Given the description of an element on the screen output the (x, y) to click on. 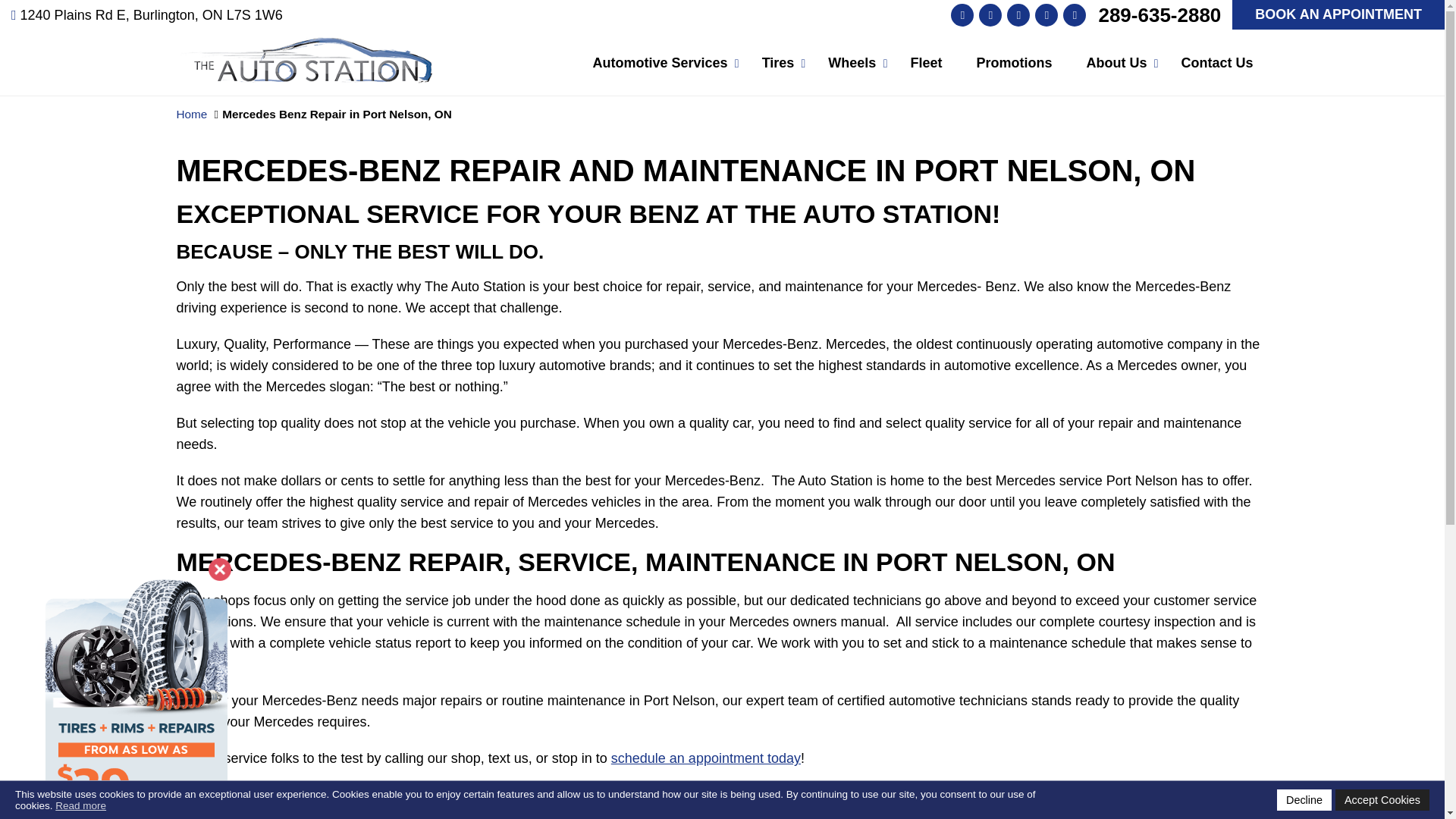
Accept Cookies (1382, 799)
Automotive Services (660, 62)
Read more (80, 805)
289-635-2880 (1159, 14)
The Auto Station (304, 47)
BOOK AN APPOINTMENT (1337, 14)
Go to The Auto Station. (191, 113)
Decline (1304, 799)
Tires (777, 62)
